Given the description of an element on the screen output the (x, y) to click on. 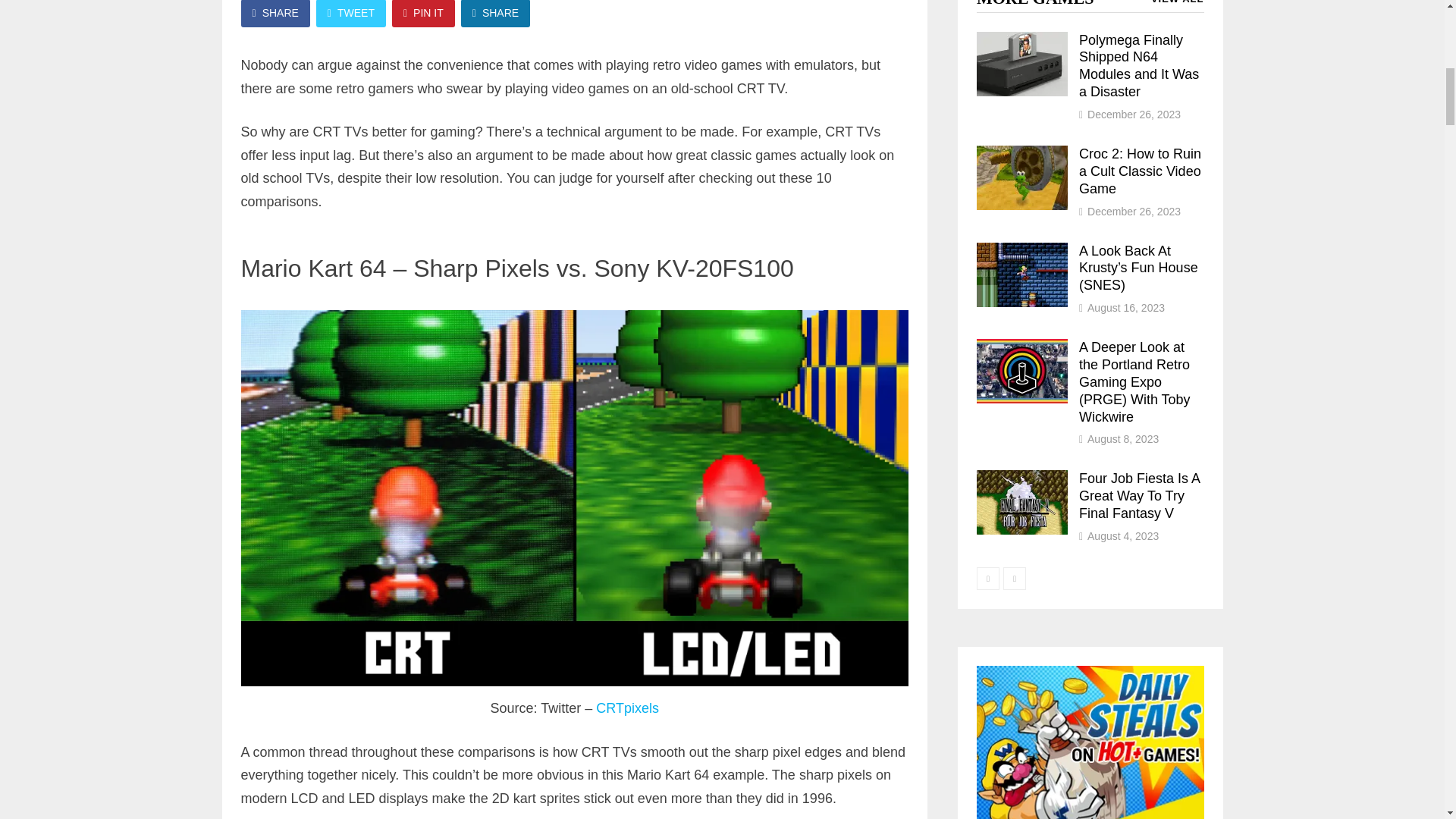
SHARE (495, 13)
CRTpixels (627, 708)
Croc 2: How to Ruin a Cult Classic Video Game (1021, 155)
Polymega Finally Shipped N64 Modules and It Was a Disaster (1021, 41)
PIN IT (422, 13)
Four Job Fiesta Is A Great Way To Try Final Fantasy V (1021, 479)
SHARE (275, 13)
TWEET (350, 13)
